Given the description of an element on the screen output the (x, y) to click on. 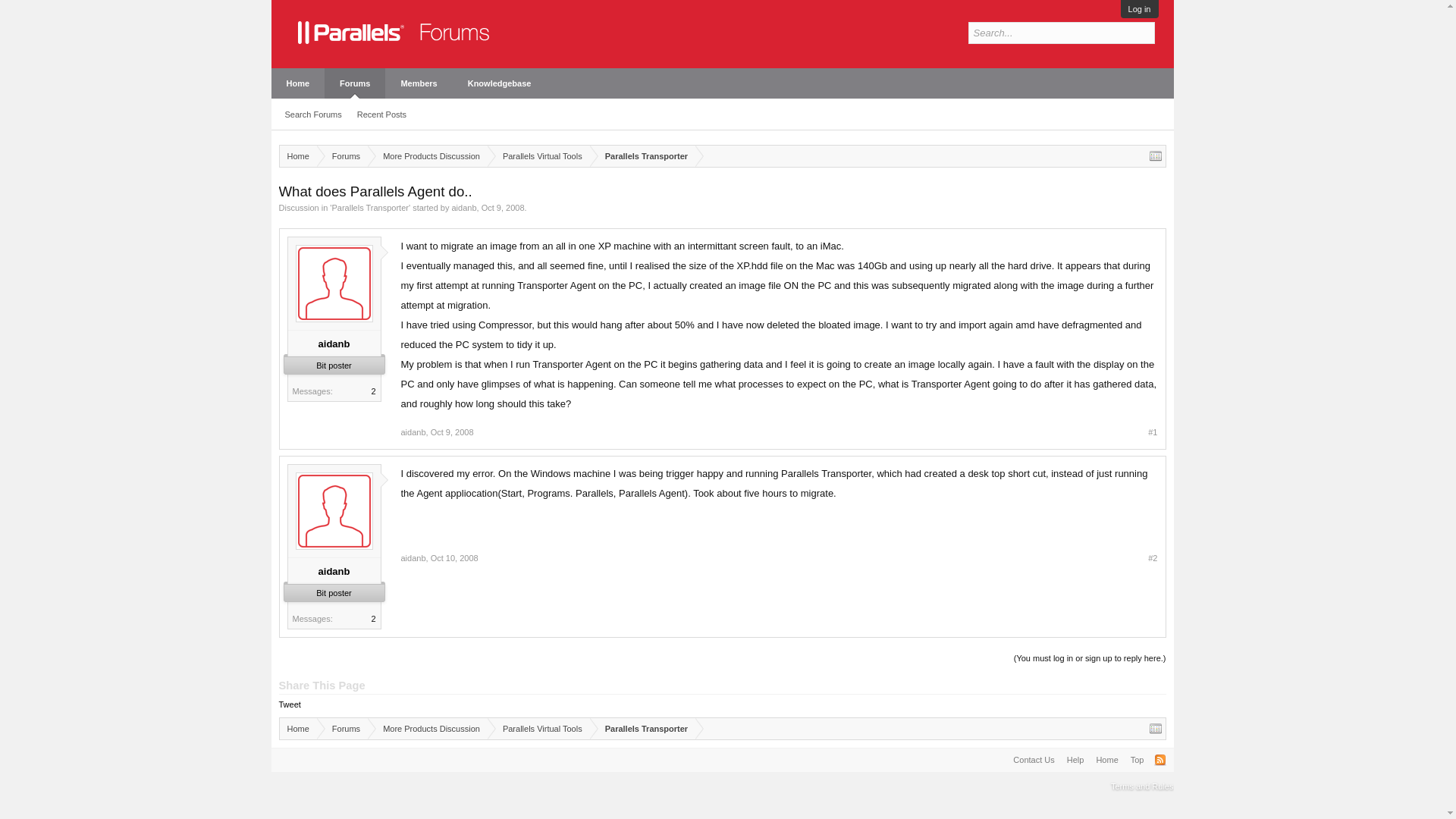
Enter your search and hit enter (1061, 33)
aidanb (412, 431)
Members (418, 82)
Oct 9, 2008 at 8:28 AM (502, 207)
Oct 9, 2008 (452, 431)
Permalink (452, 431)
aidanb (463, 207)
Parallels Virtual Tools (538, 156)
Search Forums (313, 114)
aidanb (334, 344)
